Given the description of an element on the screen output the (x, y) to click on. 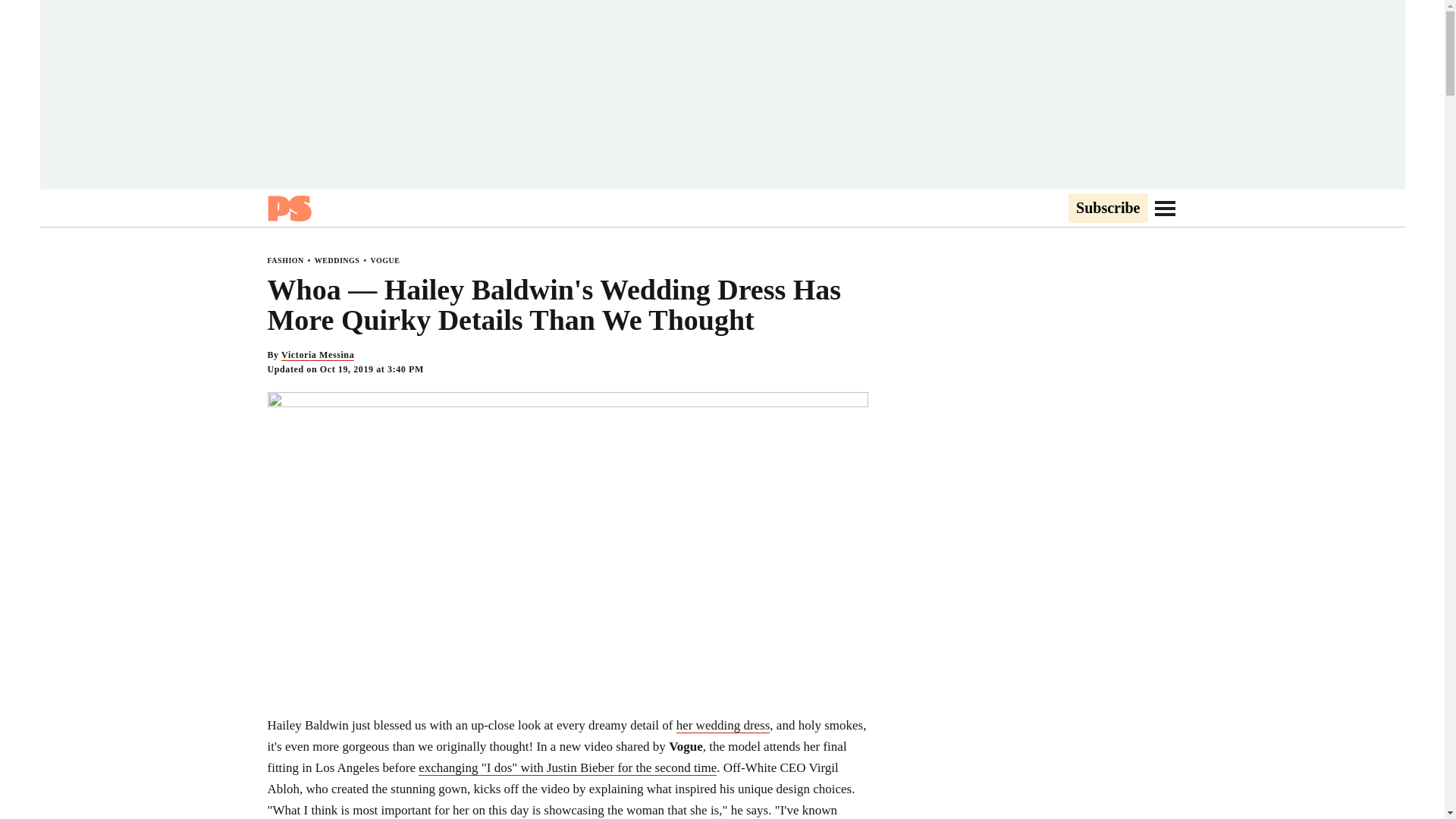
exchanging "I dos" with Justin Bieber for the second time (567, 767)
Subscribe (1107, 208)
WEDDINGS (336, 260)
Go to Navigation (1164, 207)
Popsugar (288, 208)
FASHION (284, 260)
VOGUE (383, 260)
her wedding dress (723, 725)
Go to Navigation (1164, 207)
Victoria Messina (317, 355)
